Given the description of an element on the screen output the (x, y) to click on. 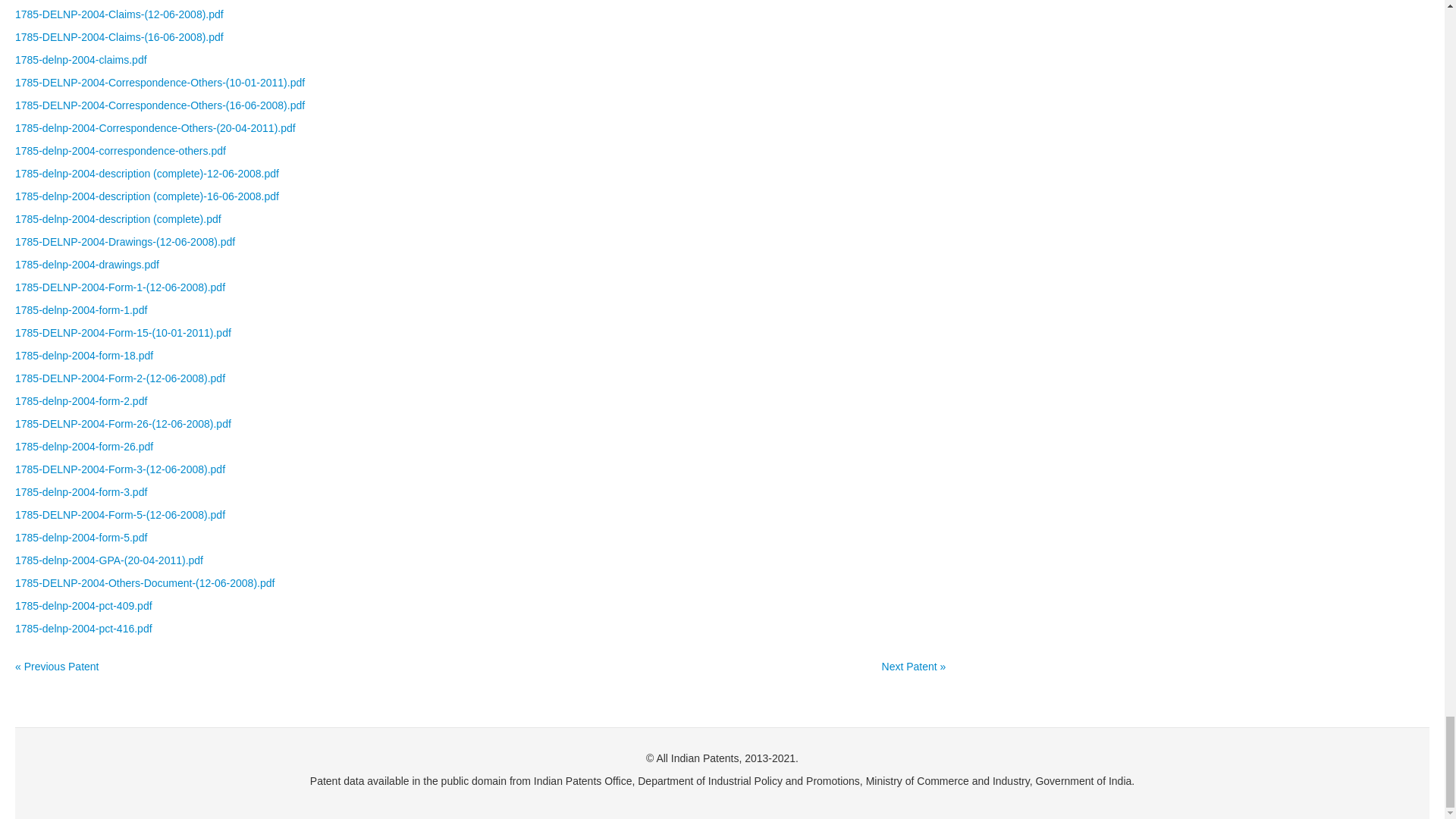
1785-delnp-2004-form-5.pdf (80, 537)
1785-delnp-2004-form-18.pdf (83, 355)
1785-delnp-2004-correspondence-others.pdf (119, 150)
1785-delnp-2004-claims.pdf (80, 60)
1785-delnp-2004-form-1.pdf (80, 309)
1785-delnp-2004-form-26.pdf (83, 446)
1785-delnp-2004-pct-409.pdf (83, 605)
1785-delnp-2004-form-2.pdf (80, 400)
1785-delnp-2004-form-3.pdf (80, 491)
1785-delnp-2004-drawings.pdf (86, 264)
